Given the description of an element on the screen output the (x, y) to click on. 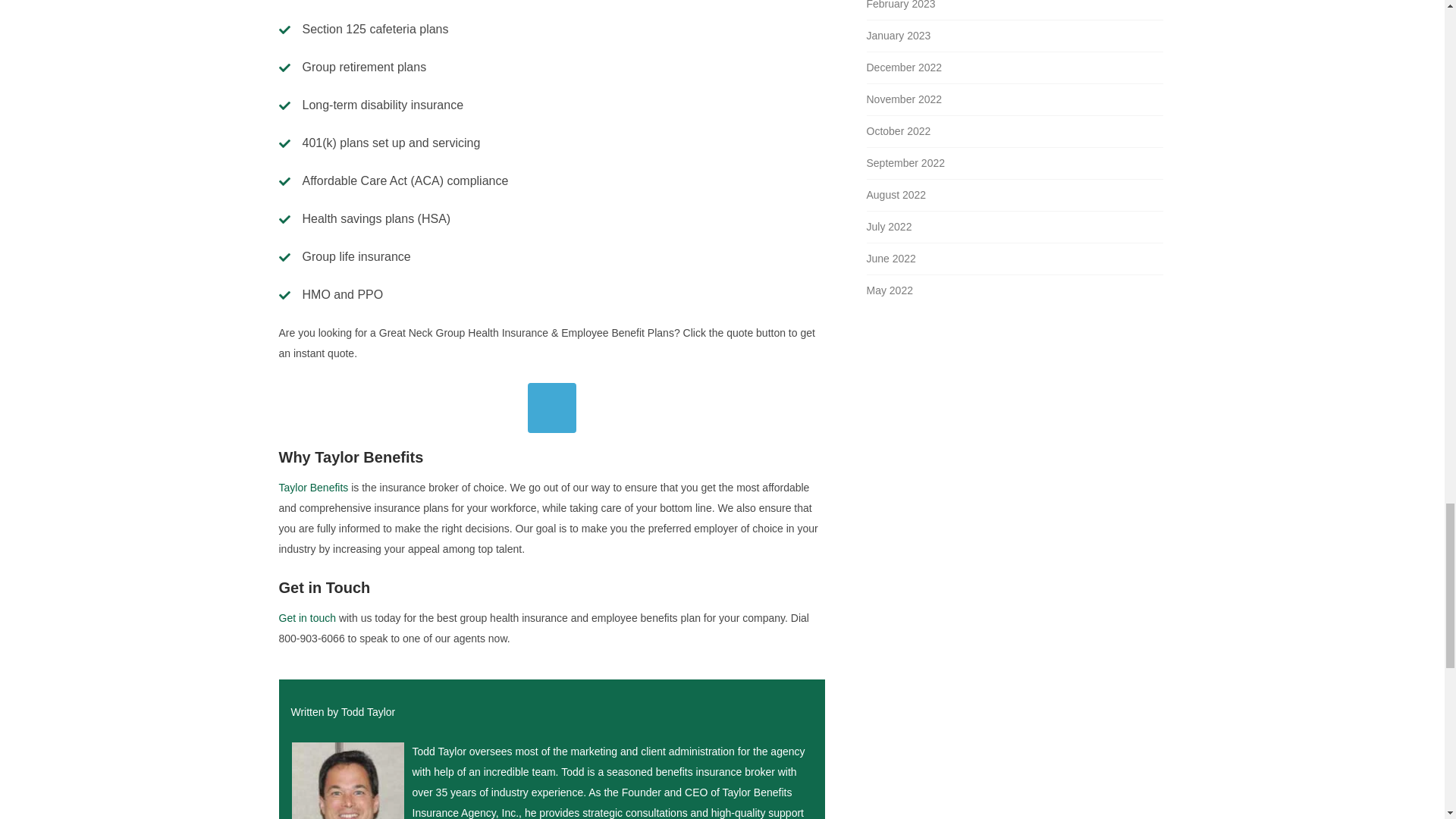
Taylor Benefits (314, 487)
Get in touch (307, 617)
